Given the description of an element on the screen output the (x, y) to click on. 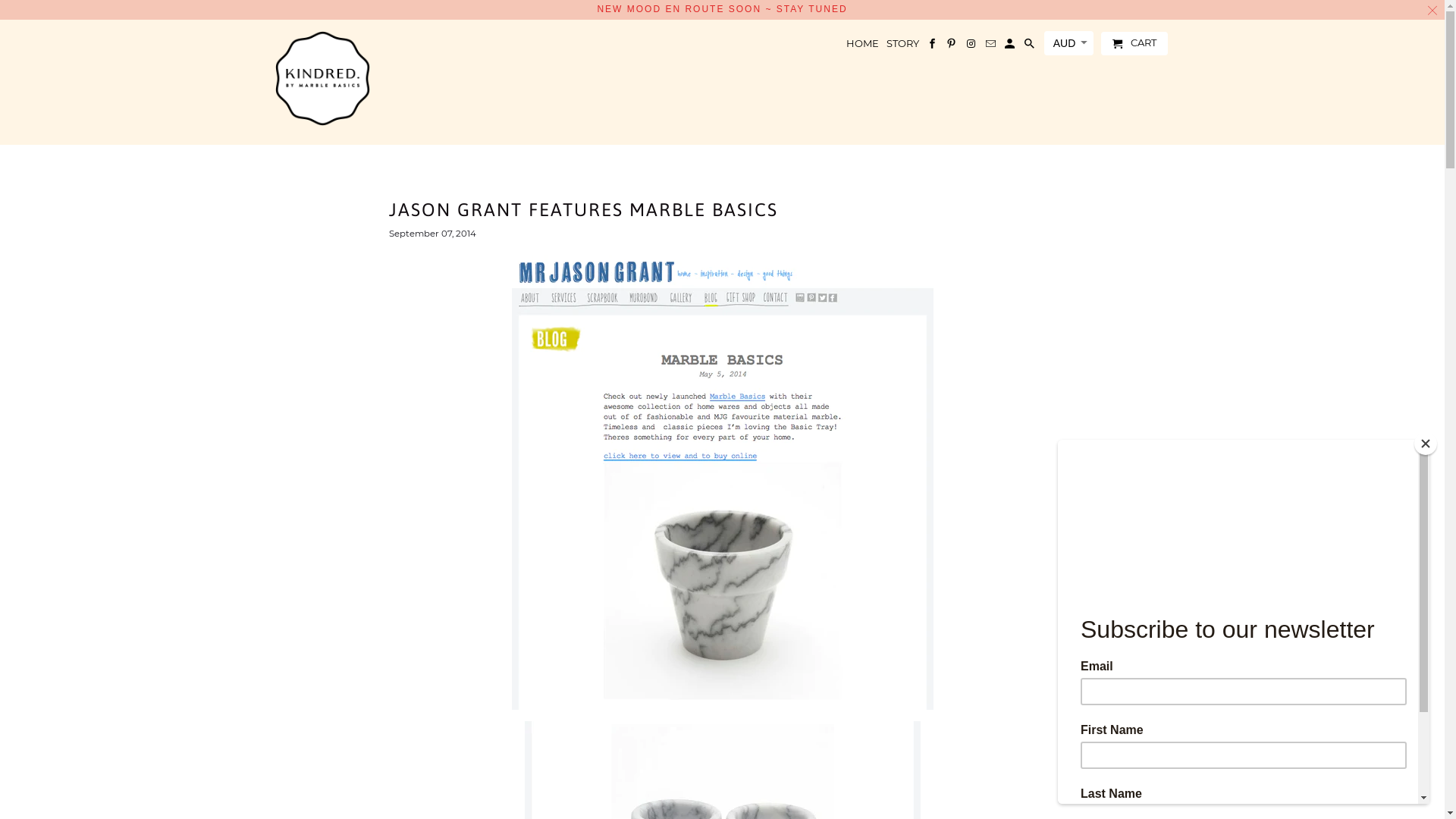
HOME Element type: text (862, 46)
Marble Basics on Instagram Element type: hover (972, 46)
Marble Basics Element type: hover (321, 78)
Email Marble Basics Element type: hover (991, 46)
Marble Basics on Facebook Element type: hover (932, 46)
Marble Basics on Pinterest Element type: hover (952, 46)
Search Element type: hover (1030, 46)
My Account  Element type: hover (1010, 46)
CART Element type: text (1134, 43)
STORY Element type: text (902, 46)
